Given the description of an element on the screen output the (x, y) to click on. 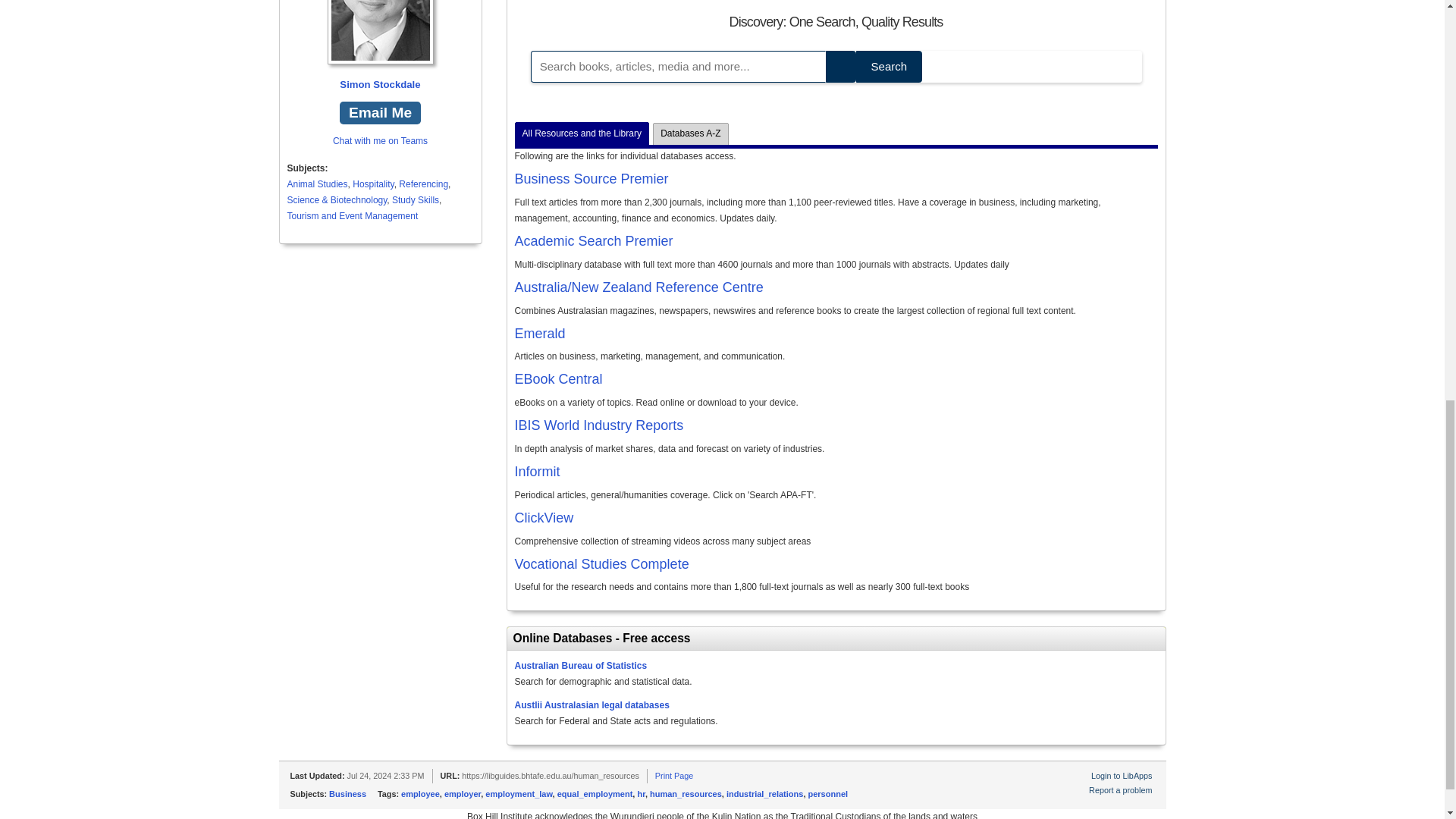
Email Me (379, 113)
Study Skills (415, 199)
EBL (557, 378)
Tourism and Event Management (351, 215)
IBIS (597, 425)
Emerald (538, 333)
Animal Studies (316, 184)
Referencing (423, 184)
Business Source Premier (590, 178)
Academic Search premier (592, 240)
Hospitality (372, 184)
Chat with me on Teams (380, 140)
Vocational Studies Complete (600, 563)
Infomit (536, 471)
Simon Stockdale (379, 46)
